Given the description of an element on the screen output the (x, y) to click on. 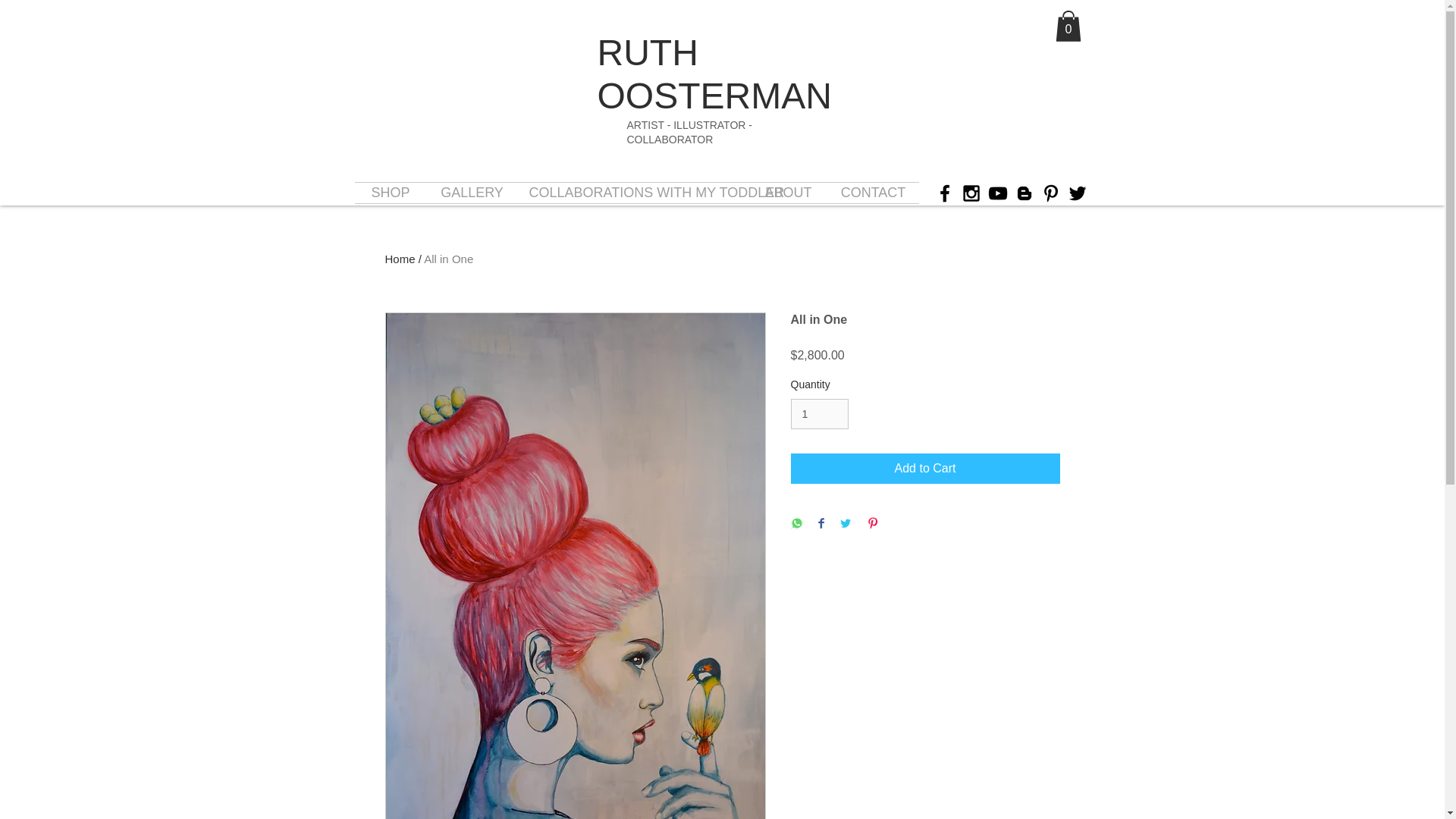
GALLERY (471, 192)
COLLABORATIONS WITH MY TODDLER (632, 192)
Add to Cart (924, 468)
CONTACT (873, 192)
ABOUT (788, 192)
All in One (448, 258)
SHOP (390, 192)
1 (818, 413)
Home (399, 258)
